Given the description of an element on the screen output the (x, y) to click on. 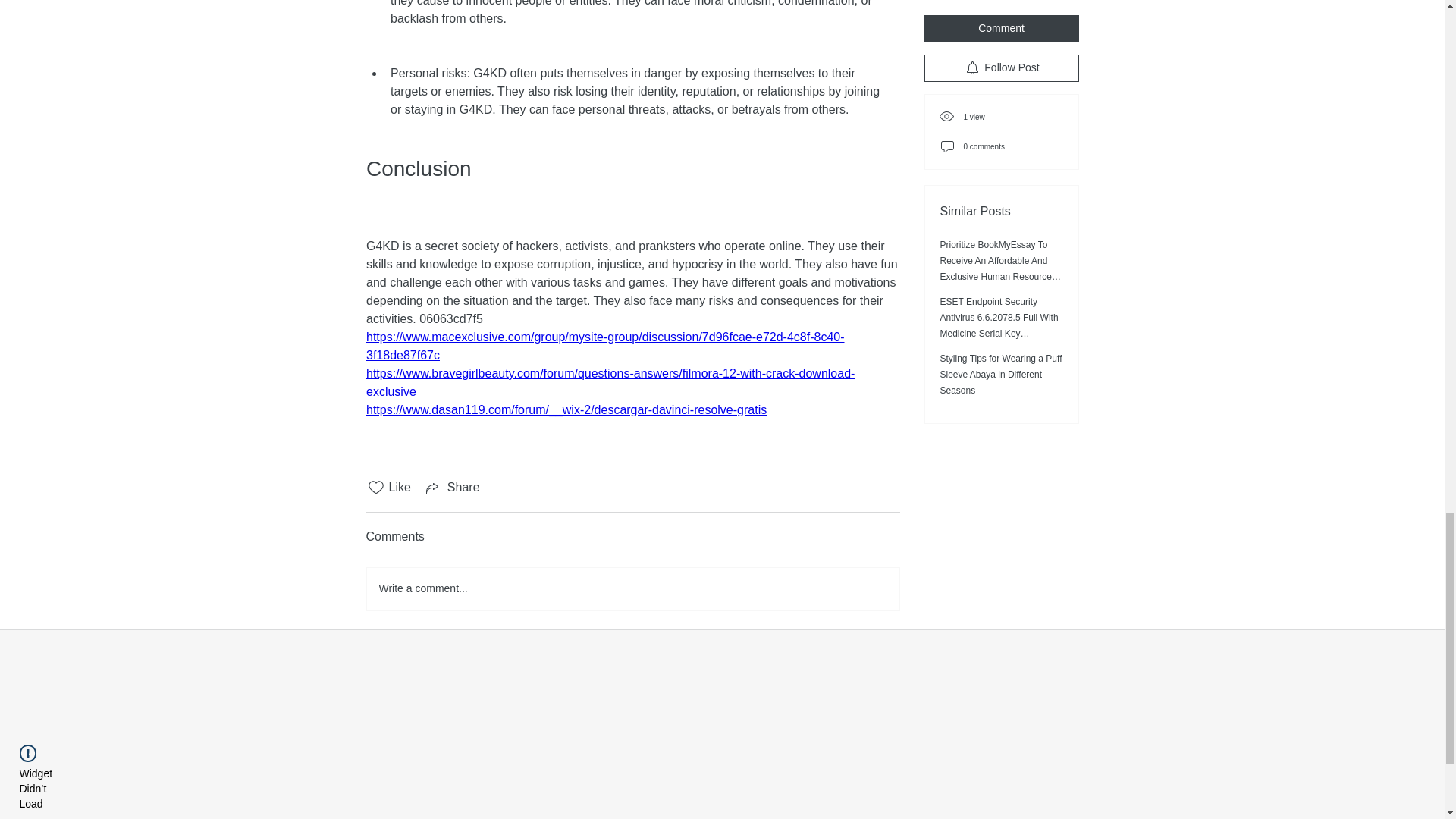
Write a comment... (632, 589)
Share (451, 487)
